Given the description of an element on the screen output the (x, y) to click on. 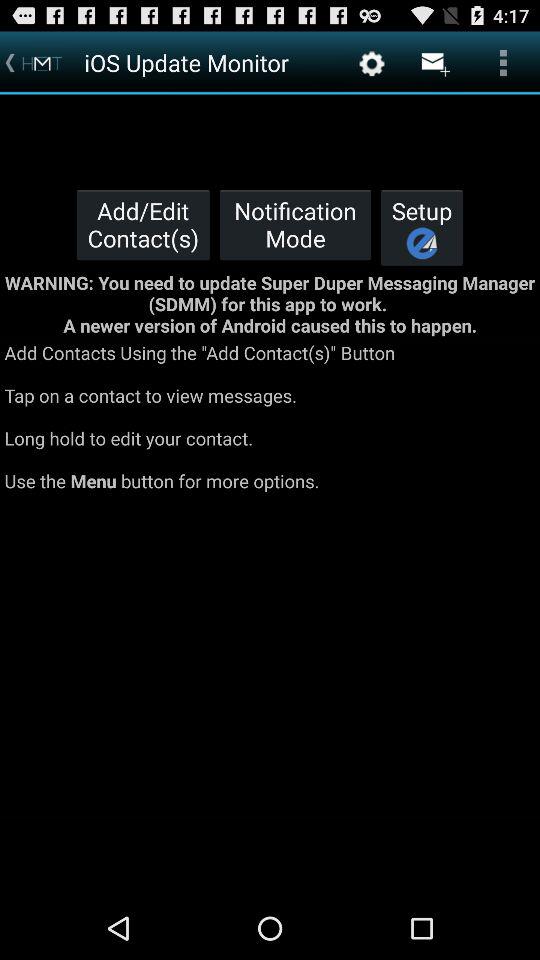
click the icon next to setup icon (295, 224)
